Given the description of an element on the screen output the (x, y) to click on. 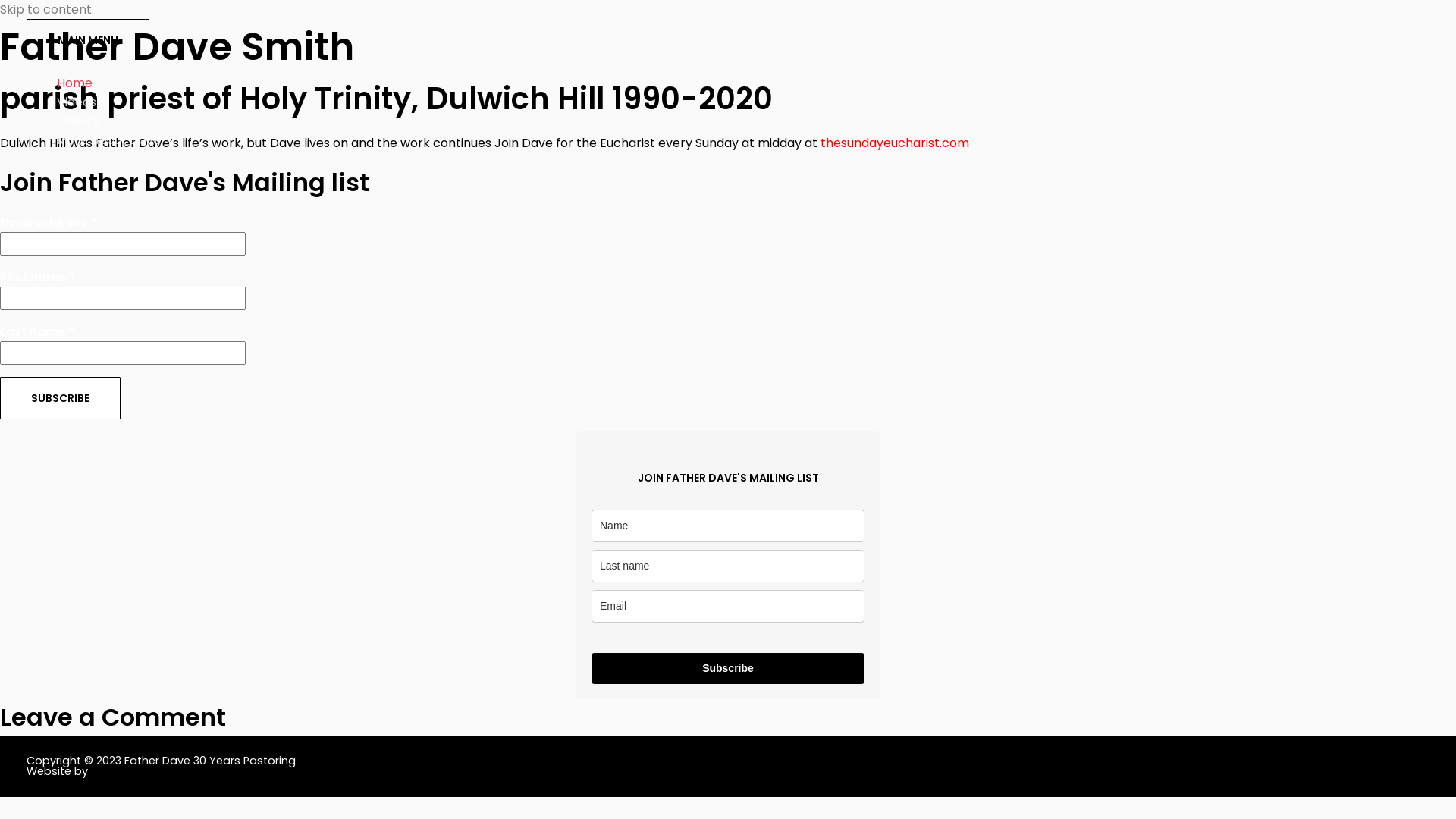
Home Element type: text (742, 82)
subscribe Element type: text (60, 397)
More about Dave Element type: text (742, 139)
Videos Element type: text (742, 101)
Skip to content Element type: text (45, 9)
Subscribe Element type: text (727, 668)
Gallery Element type: text (742, 120)
MAIN MENU Element type: text (87, 39)
TMH Element type: text (102, 770)
thesundayeucharist.com Element type: text (894, 142)
